Given the description of an element on the screen output the (x, y) to click on. 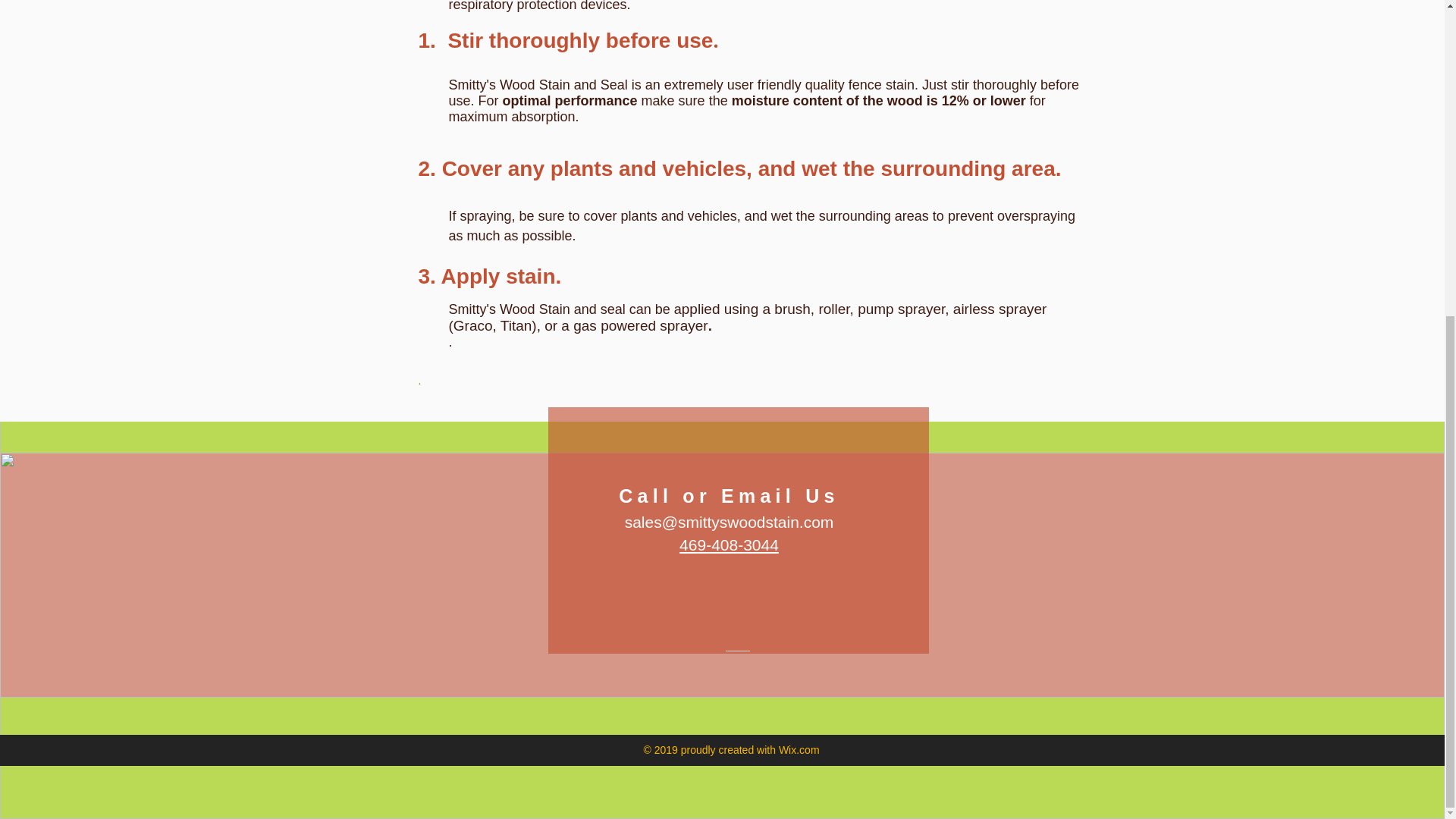
Wix.com (798, 749)
